Given the description of an element on the screen output the (x, y) to click on. 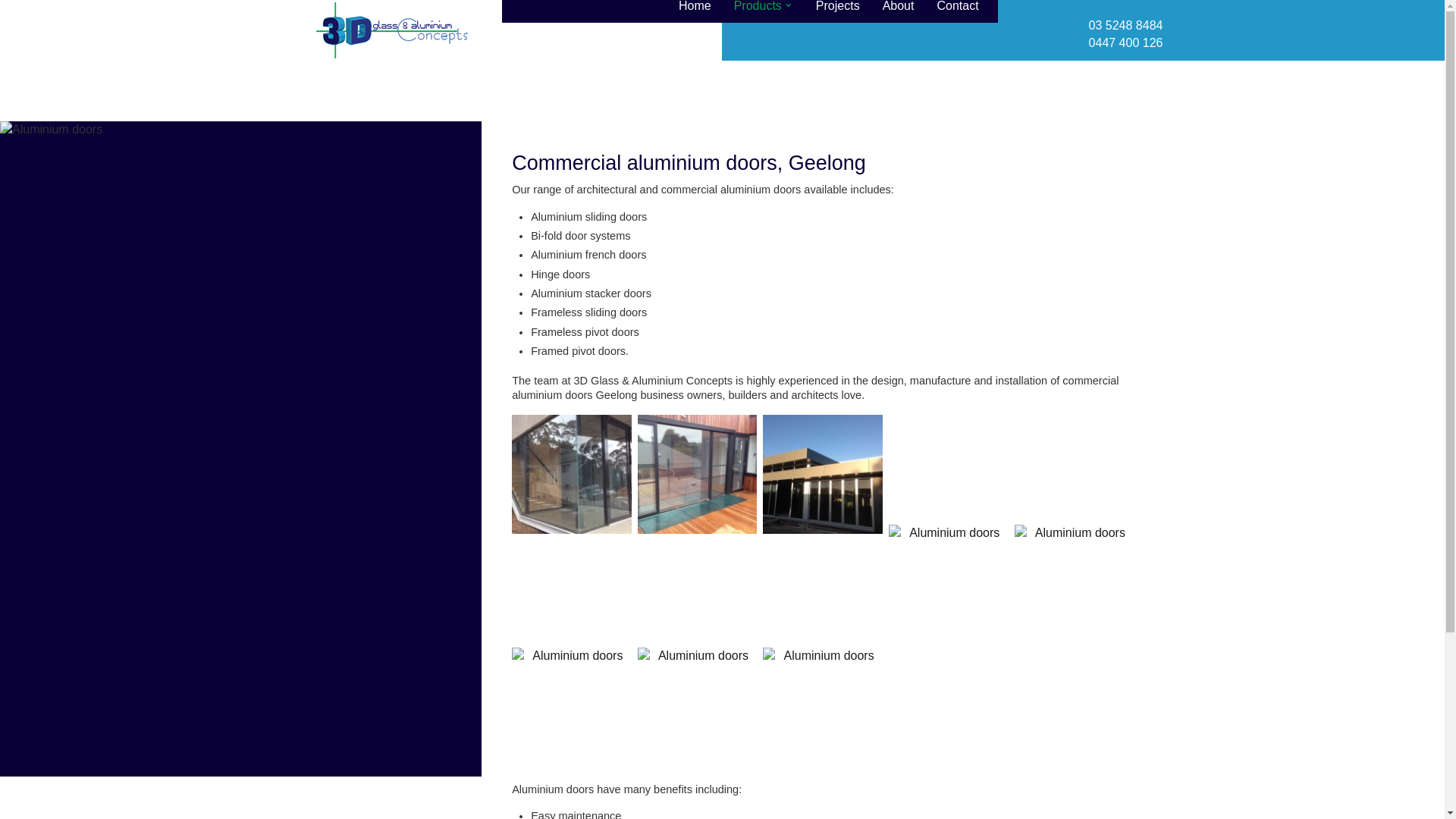
Contact (957, 9)
03 5248 8484 (1126, 24)
Black aluminium bi-fold doors (947, 583)
Aluminium doors - natural anodised (822, 473)
0447 400 126 (1126, 42)
Aluminium doors - black (697, 473)
Aluminium doors (822, 706)
Projects (837, 9)
Home (694, 9)
Black aluminium doors and windows (571, 706)
Aluminium doors (571, 473)
About (898, 9)
Black aluminium entry door (1074, 583)
Natural anodised stacker aluminium doors (697, 706)
Products (763, 9)
